Given the description of an element on the screen output the (x, y) to click on. 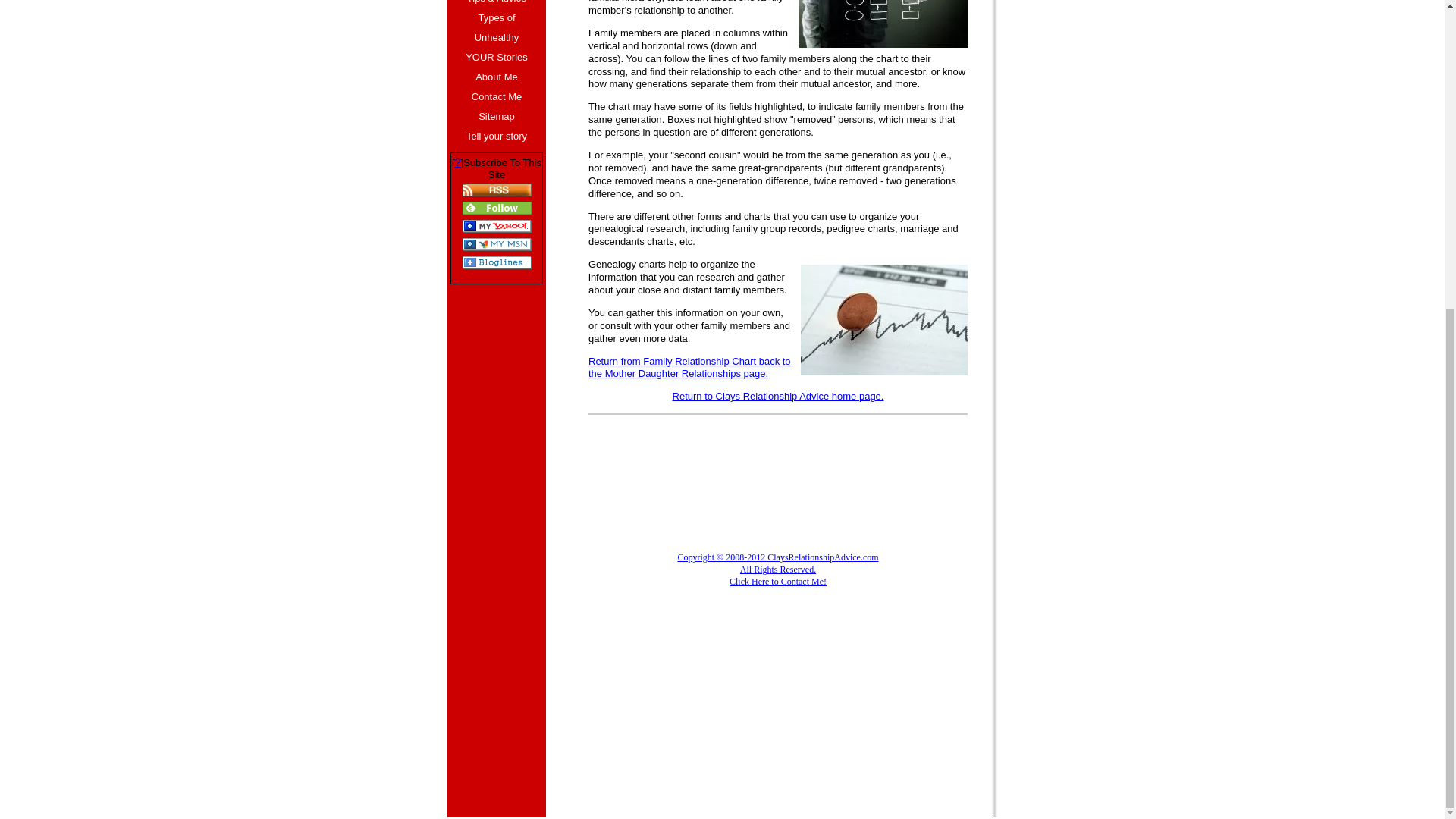
Types of Relationships (496, 17)
About Me (496, 76)
Return to Clays Relationship Advice home page. (777, 396)
Contact Me (496, 96)
Sitemap (496, 116)
YOUR Stories (496, 57)
Unhealthy (496, 37)
Tell your story (496, 136)
